Given the description of an element on the screen output the (x, y) to click on. 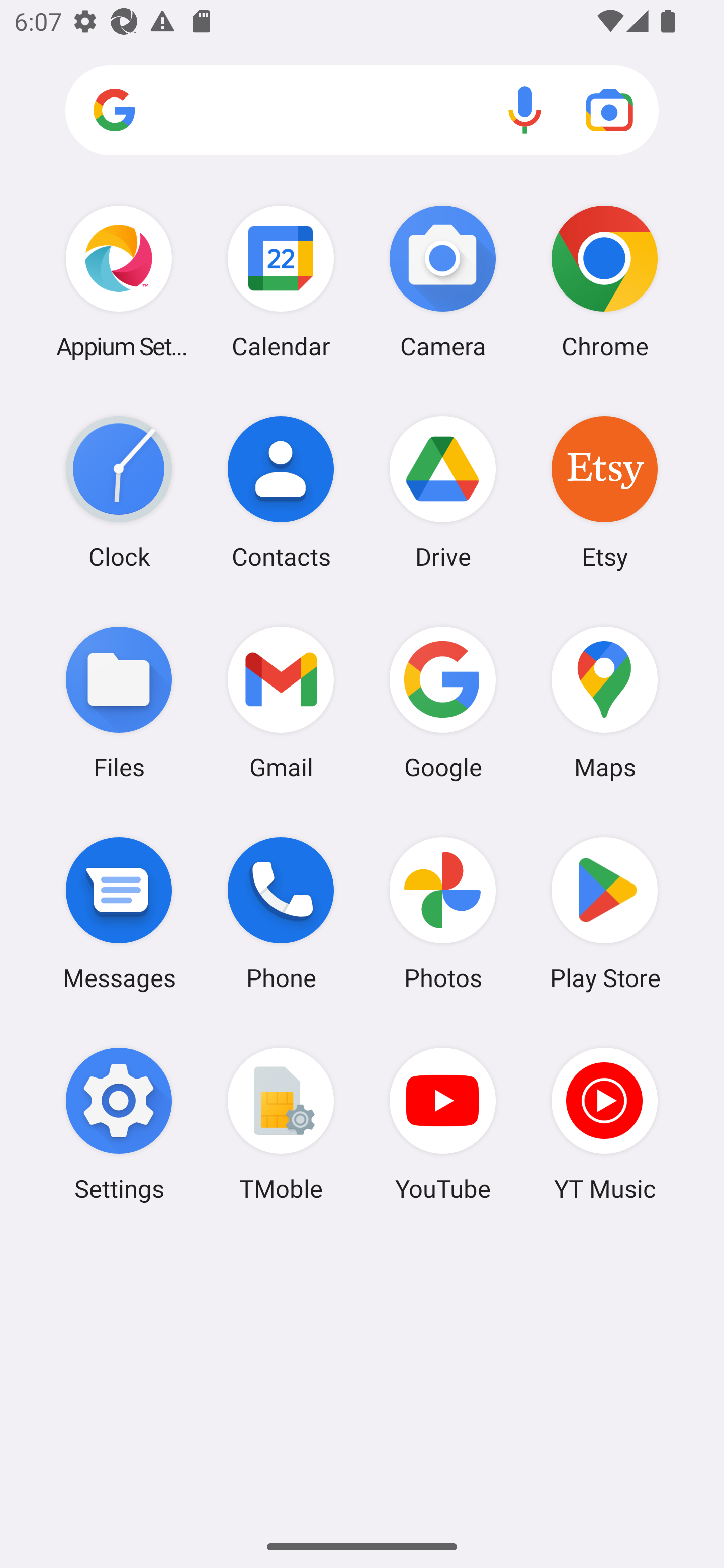
Search apps, web and more (361, 110)
Voice search (524, 109)
Google Lens (608, 109)
Appium Settings (118, 281)
Calendar (280, 281)
Camera (443, 281)
Chrome (604, 281)
Clock (118, 492)
Contacts (280, 492)
Drive (443, 492)
Etsy (604, 492)
Files (118, 702)
Gmail (280, 702)
Google (443, 702)
Maps (604, 702)
Messages (118, 913)
Phone (280, 913)
Photos (443, 913)
Play Store (604, 913)
Settings (118, 1124)
TMoble (280, 1124)
YouTube (443, 1124)
YT Music (604, 1124)
